Given the description of an element on the screen output the (x, y) to click on. 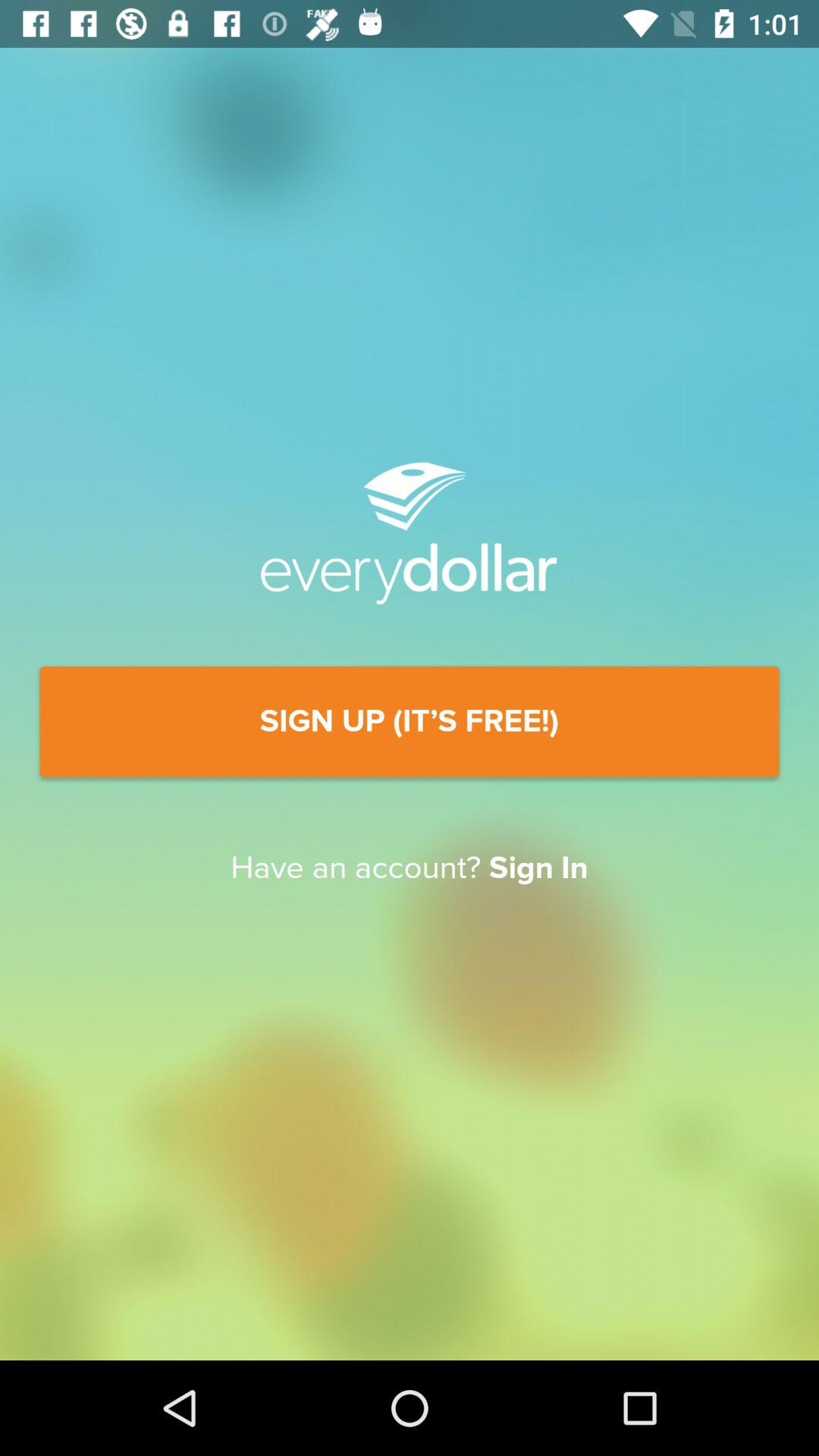
tap the have an account item (409, 868)
